Given the description of an element on the screen output the (x, y) to click on. 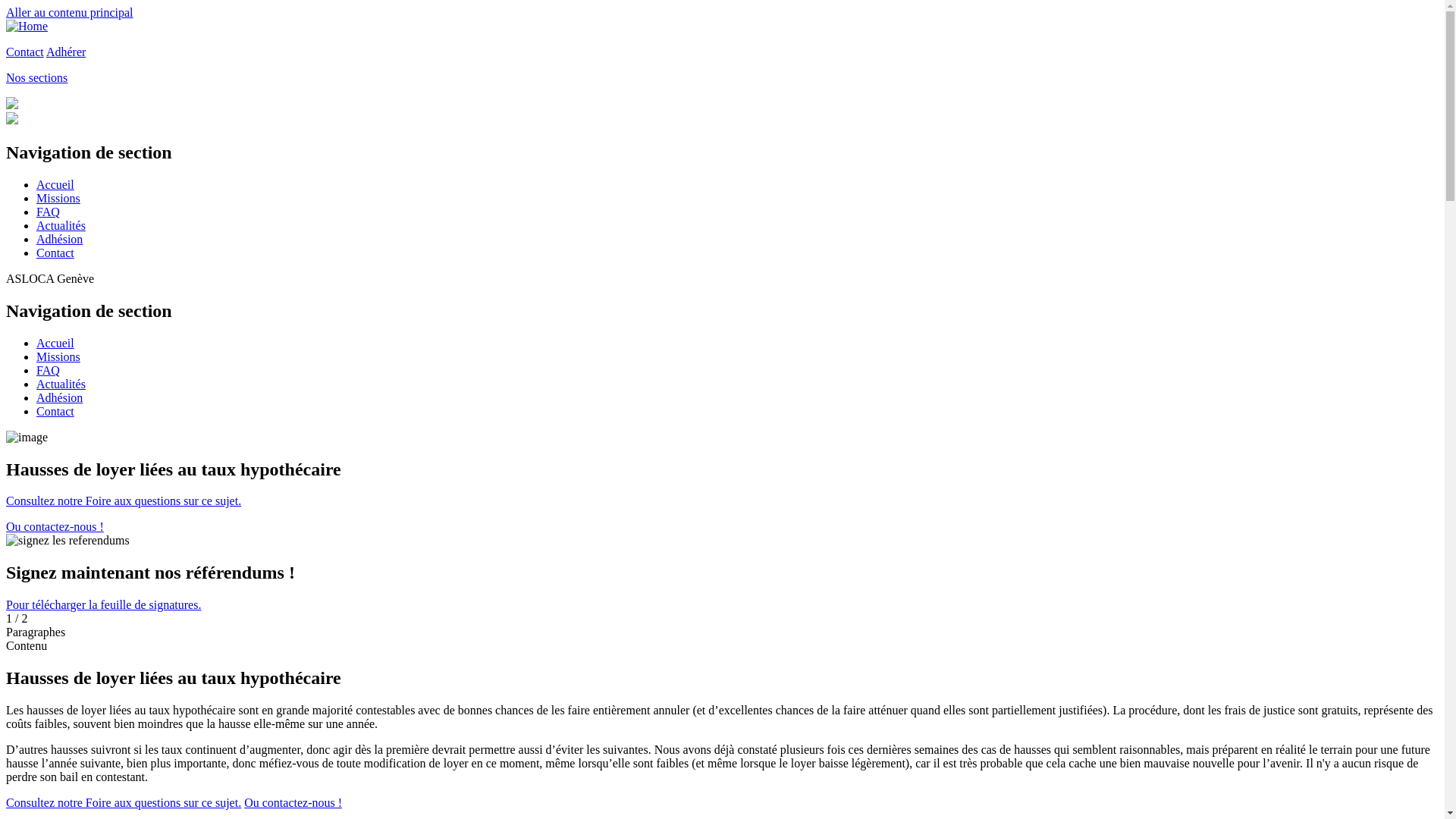
FAQ Element type: text (47, 370)
Accueil Element type: text (55, 184)
Consultez notre Foire aux questions sur ce sujet. Element type: text (123, 500)
Contact Element type: text (24, 51)
FAQ Element type: text (47, 211)
Contact Element type: text (55, 410)
Accueil Element type: text (55, 342)
Missions Element type: text (58, 356)
Contact Element type: text (55, 252)
Ou contactez-nous ! Element type: text (54, 526)
Consultez notre Foire aux questions sur ce sujet. Element type: text (123, 802)
Nos sections Element type: text (36, 77)
Home Element type: hover (26, 25)
Missions Element type: text (58, 197)
Ou contactez-nous ! Element type: text (293, 802)
Aller au contenu principal Element type: text (69, 12)
